Given the description of an element on the screen output the (x, y) to click on. 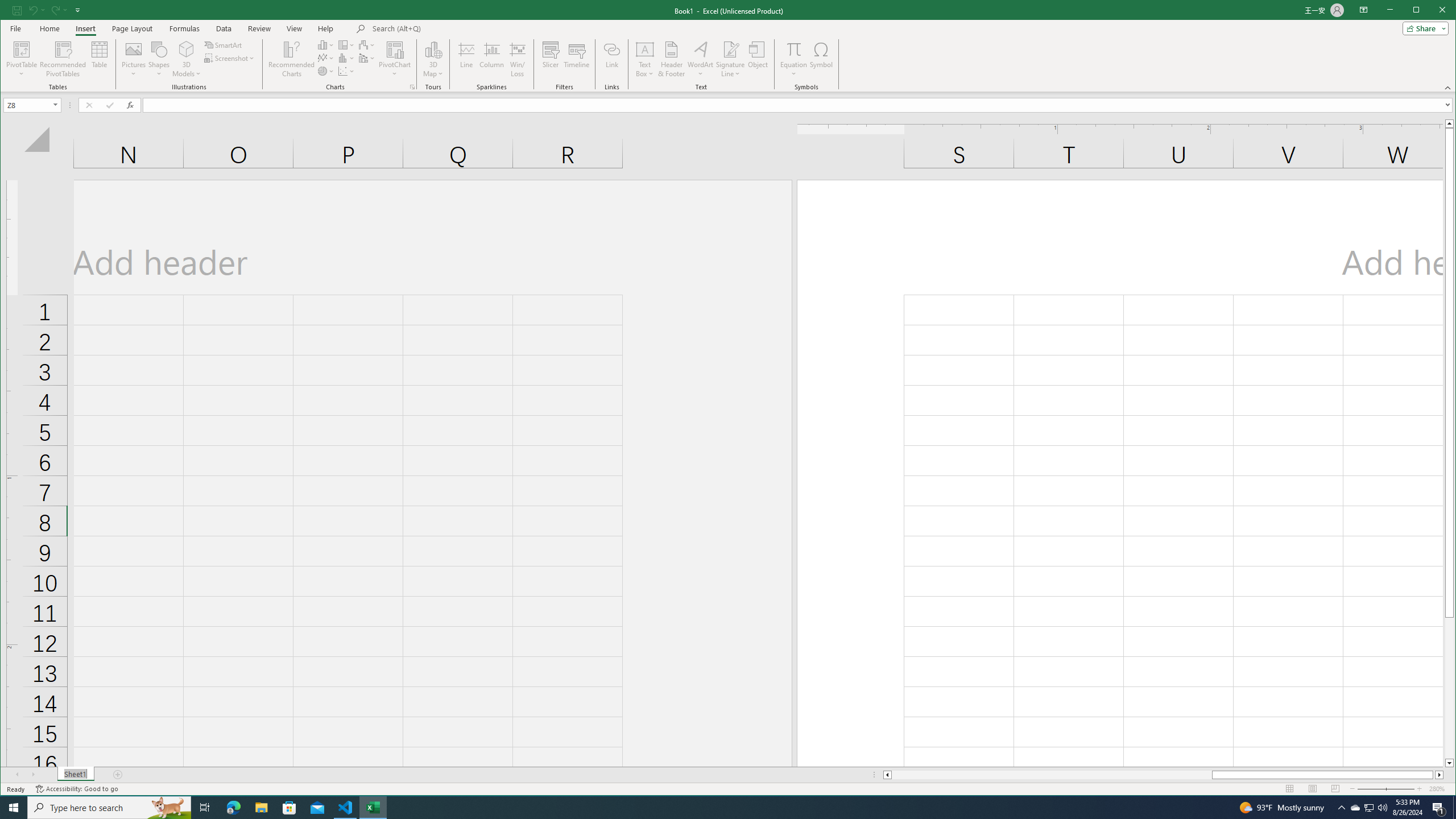
Shapes (159, 59)
Line (466, 59)
3D Map (432, 59)
Microsoft Edge (233, 807)
Maximize (1432, 11)
Excel - 1 running window (373, 807)
Symbol... (821, 59)
Header & Footer... (670, 59)
3D Models (186, 59)
